Given the description of an element on the screen output the (x, y) to click on. 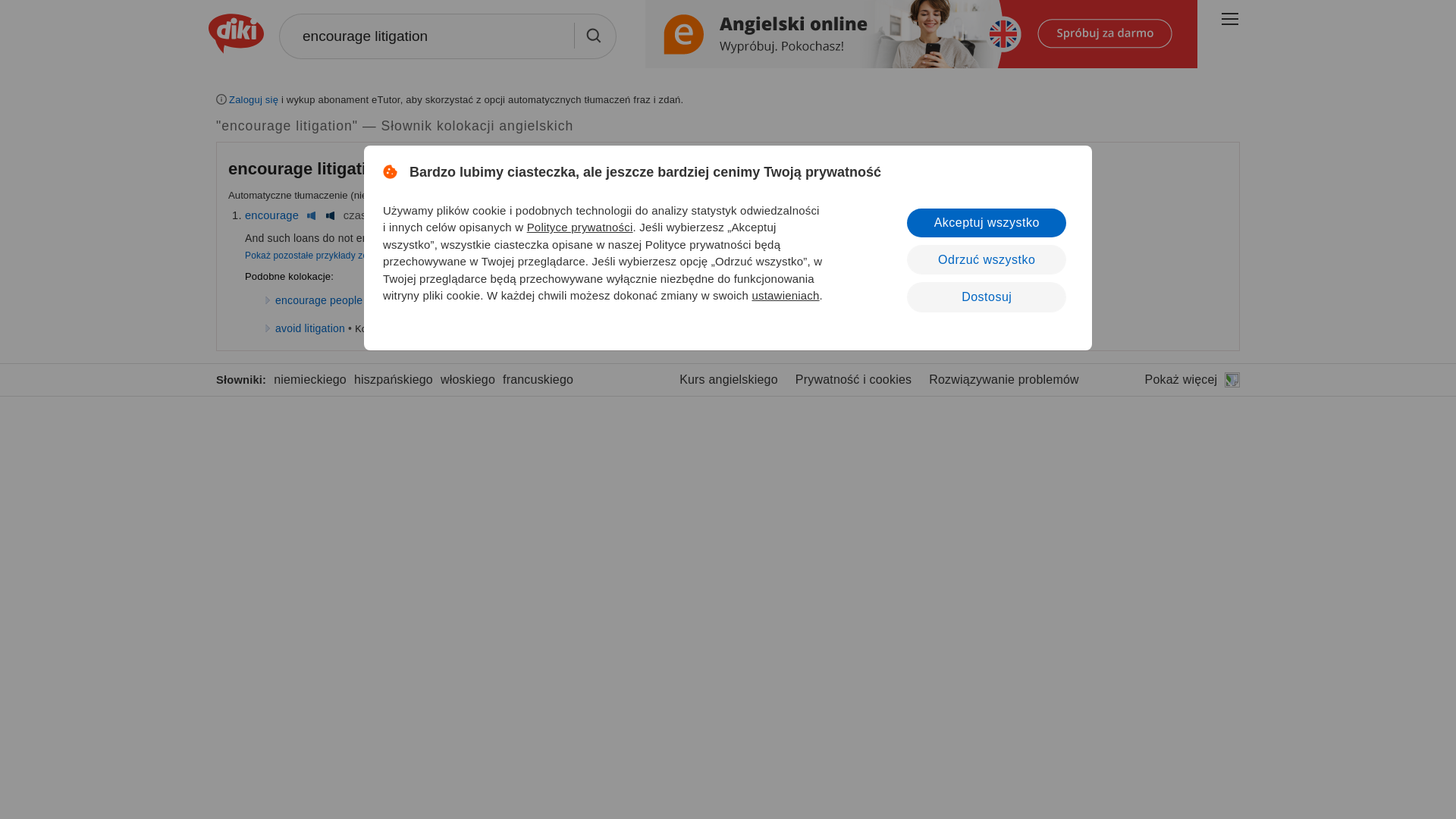
encourage litigation (307, 168)
encourage litigation (447, 35)
British English (463, 215)
ustawieniach (784, 295)
litigation (430, 215)
encourage litigation (447, 35)
encourage students (420, 300)
Akceptuj wszystko (986, 222)
Dostosuj (986, 297)
Uwaga: kolokacja wygenerowana automatycznie. (309, 168)
encourage people (318, 300)
avoid litigation (310, 328)
British English (310, 215)
encourage investment (532, 300)
encourage (271, 215)
